Given the description of an element on the screen output the (x, y) to click on. 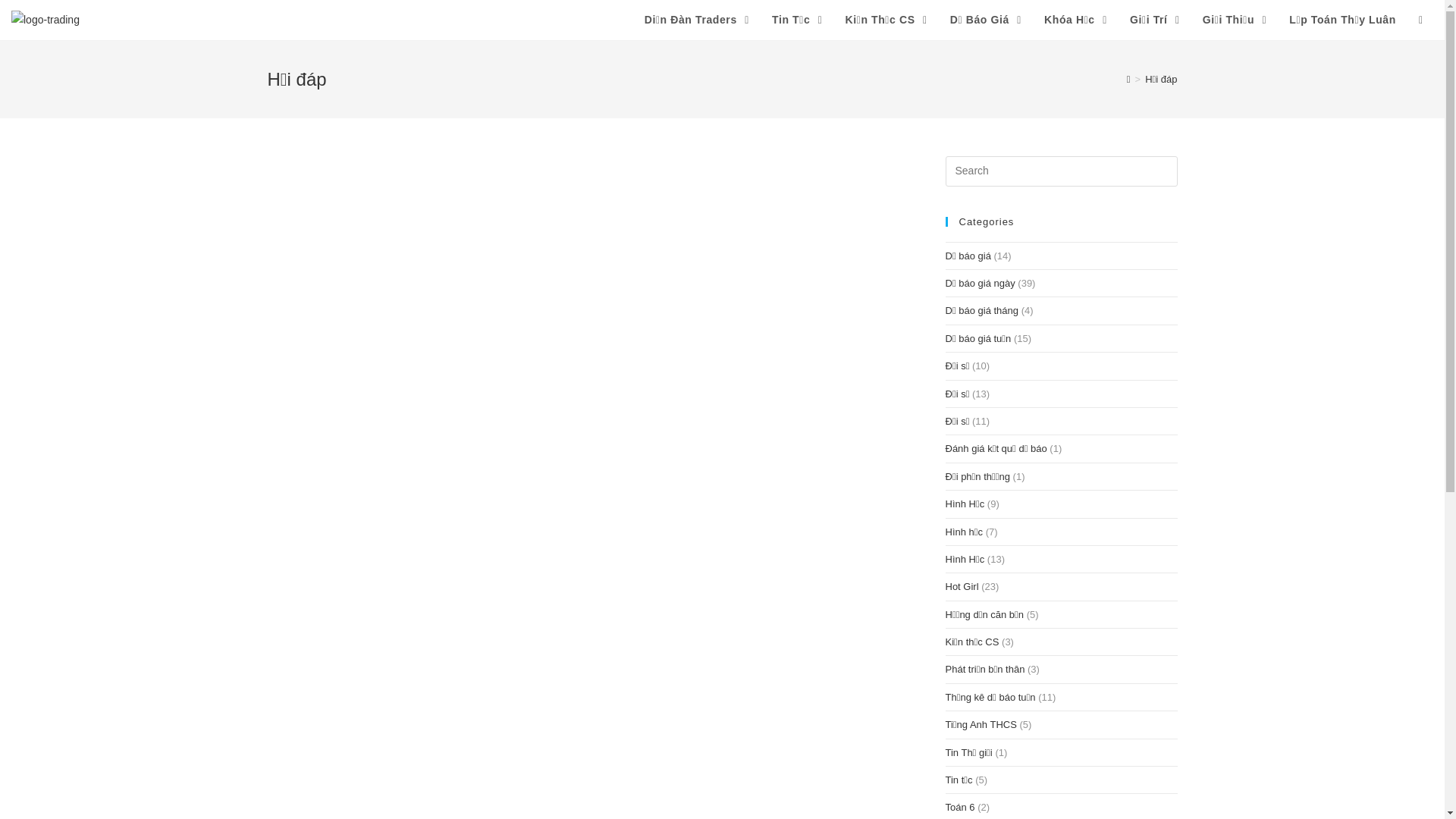
Hot Girl Element type: text (961, 586)
